Given the description of an element on the screen output the (x, y) to click on. 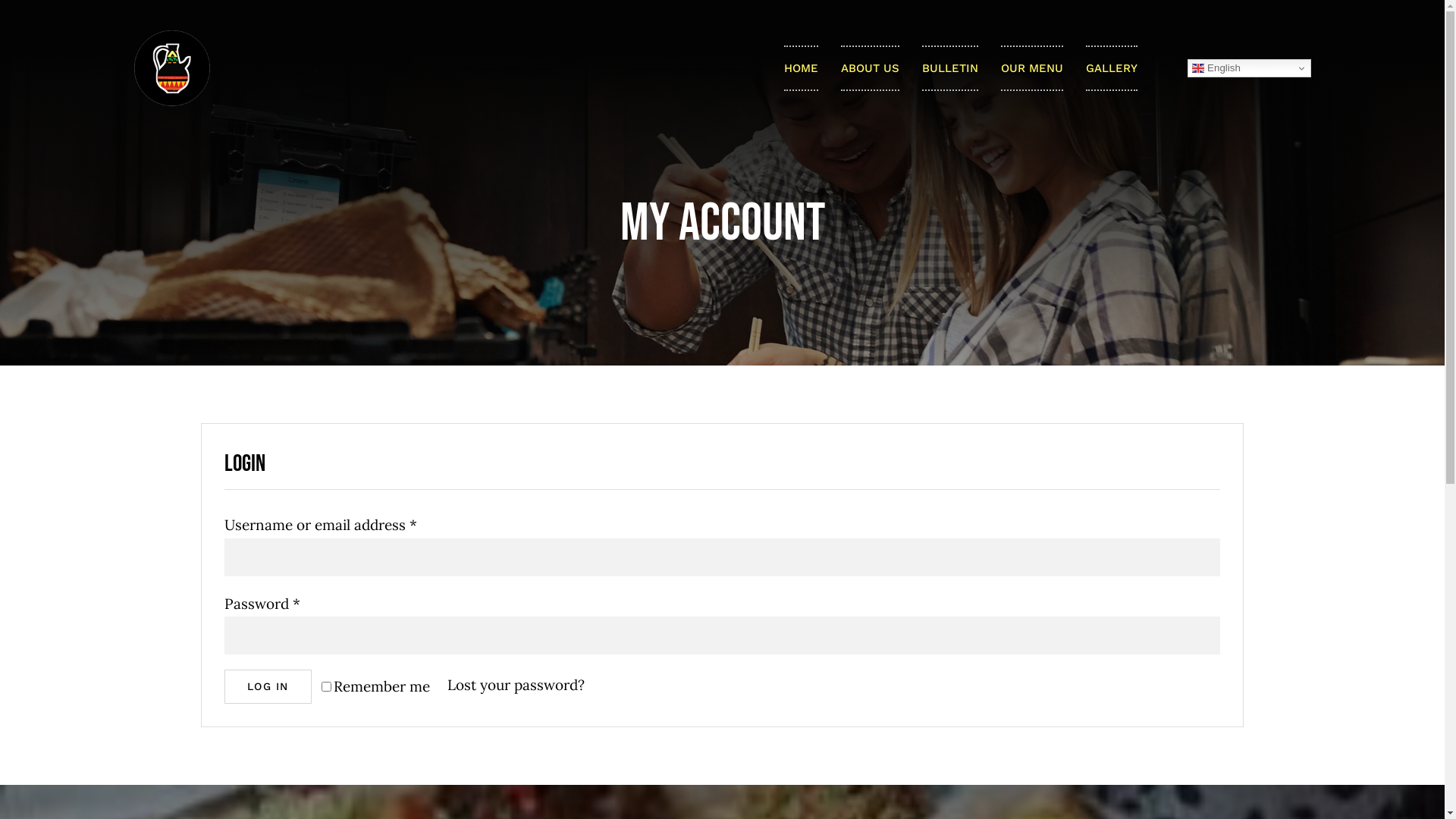
ABOUT US Element type: text (869, 68)
OUR MENU Element type: text (1032, 68)
Lost your password? Element type: text (515, 684)
LOG IN Element type: text (267, 686)
English Element type: text (1249, 68)
GALLERY Element type: text (1111, 68)
HOME Element type: text (801, 68)
BULLETIN Element type: text (950, 68)
